Given the description of an element on the screen output the (x, y) to click on. 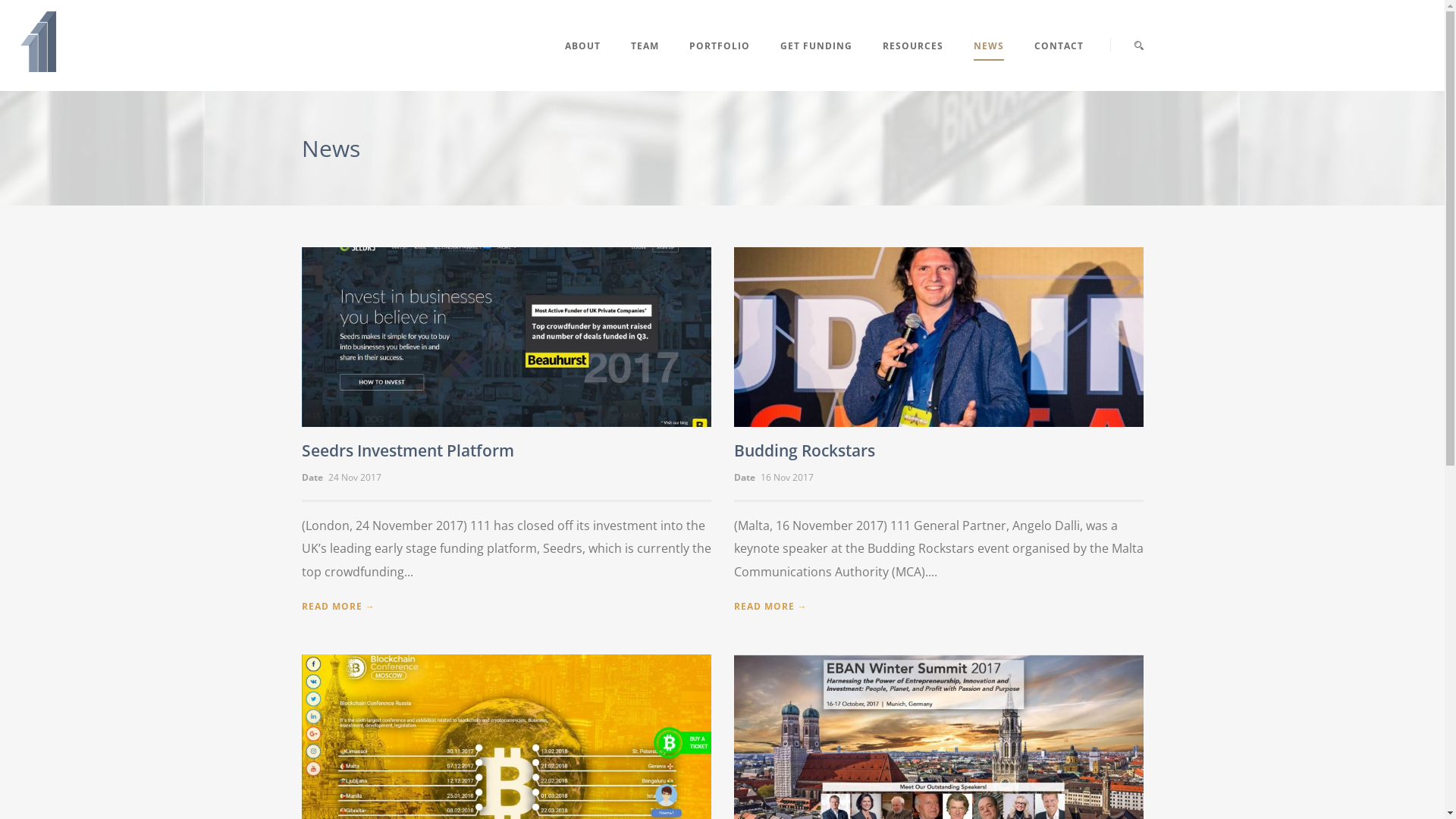
16 Nov 2017 Element type: text (785, 476)
ABOUT Element type: text (589, 64)
TEAM Element type: text (644, 64)
PORTFOLIO Element type: text (718, 64)
NEWS Element type: text (988, 64)
Budding Rockstars Element type: text (804, 450)
Seedrs Investment Platform Element type: text (407, 450)
GET FUNDING Element type: text (815, 64)
CONTACT Element type: text (1051, 64)
24 Nov 2017 Element type: text (353, 476)
RESOURCES Element type: text (912, 64)
